Given the description of an element on the screen output the (x, y) to click on. 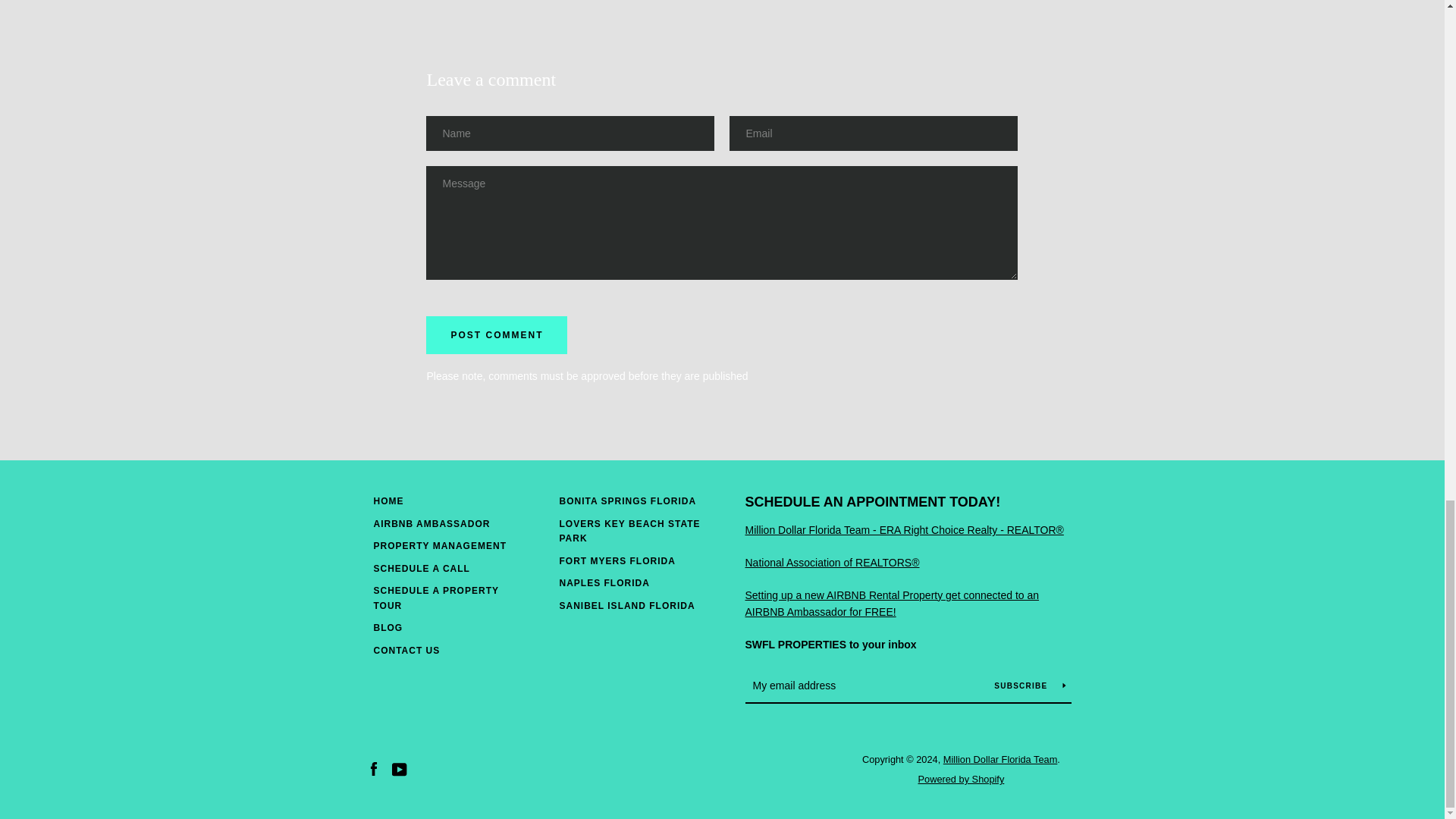
SCHEDULE A PROPERTY TOUR (434, 597)
SCHEDULE A CALL (420, 568)
Million Dollar Florida Team on YouTube (399, 768)
BLOG (387, 627)
ERA Right Choice Realty (903, 530)
AIRBNB AMBASSADOR (430, 523)
NAPLES FLORIDA (604, 583)
HOME (387, 501)
SUBSCRIBE (1029, 685)
